Given the description of an element on the screen output the (x, y) to click on. 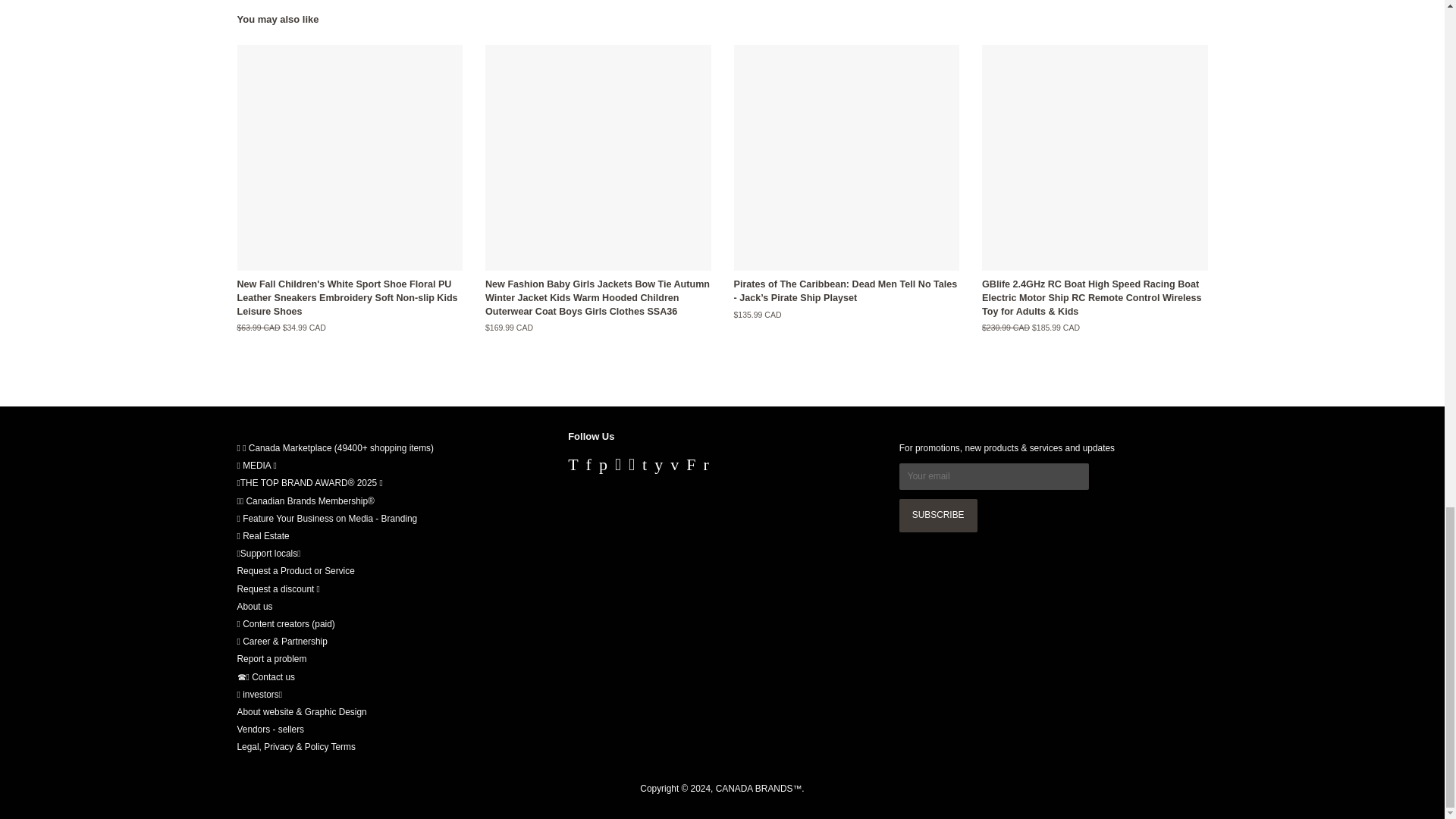
Subscribe (937, 515)
